Given the description of an element on the screen output the (x, y) to click on. 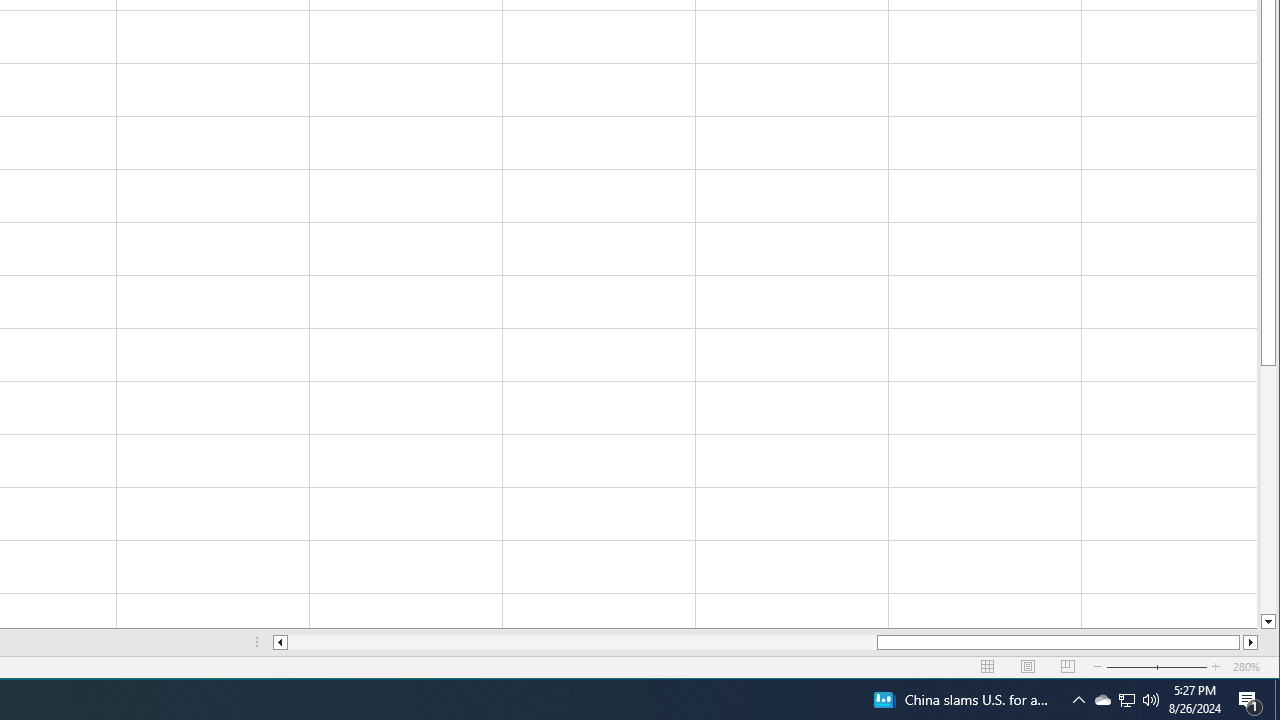
Show desktop (1277, 699)
Page Break Preview (1068, 667)
Notification Chevron (1126, 699)
Page left (1078, 699)
Normal (582, 642)
Page Layout (987, 667)
Column right (1028, 667)
Column left (1250, 642)
Zoom Out (279, 642)
Action Center, 1 new notification (1144, 667)
Page down (1250, 699)
Zoom In (1268, 489)
